Given the description of an element on the screen output the (x, y) to click on. 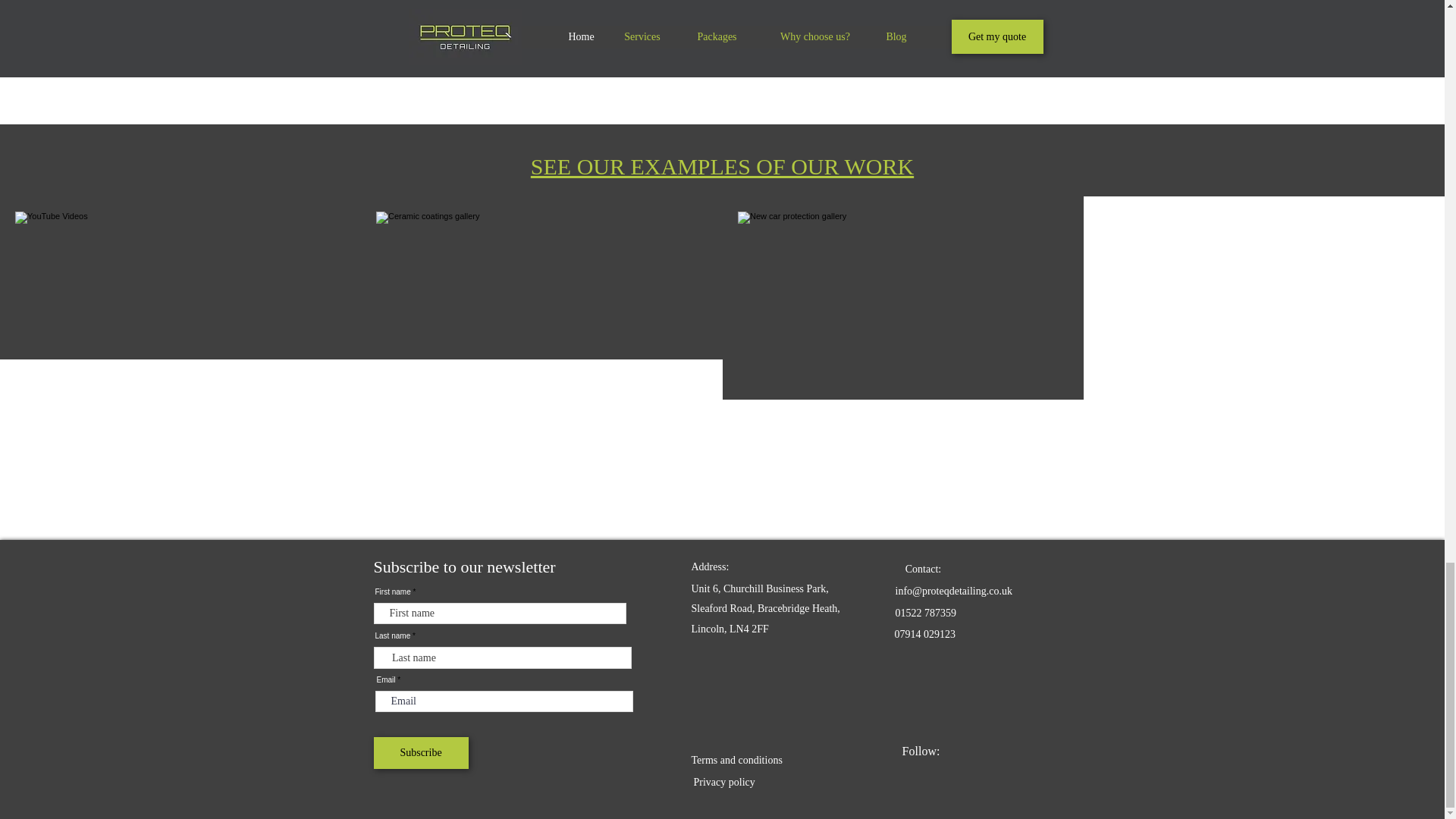
Terms and conditions (737, 759)
Subscribe (419, 753)
Privacy policy (723, 781)
SEE OUR EXAMPLES OF OUR WORK (722, 166)
